Given the description of an element on the screen output the (x, y) to click on. 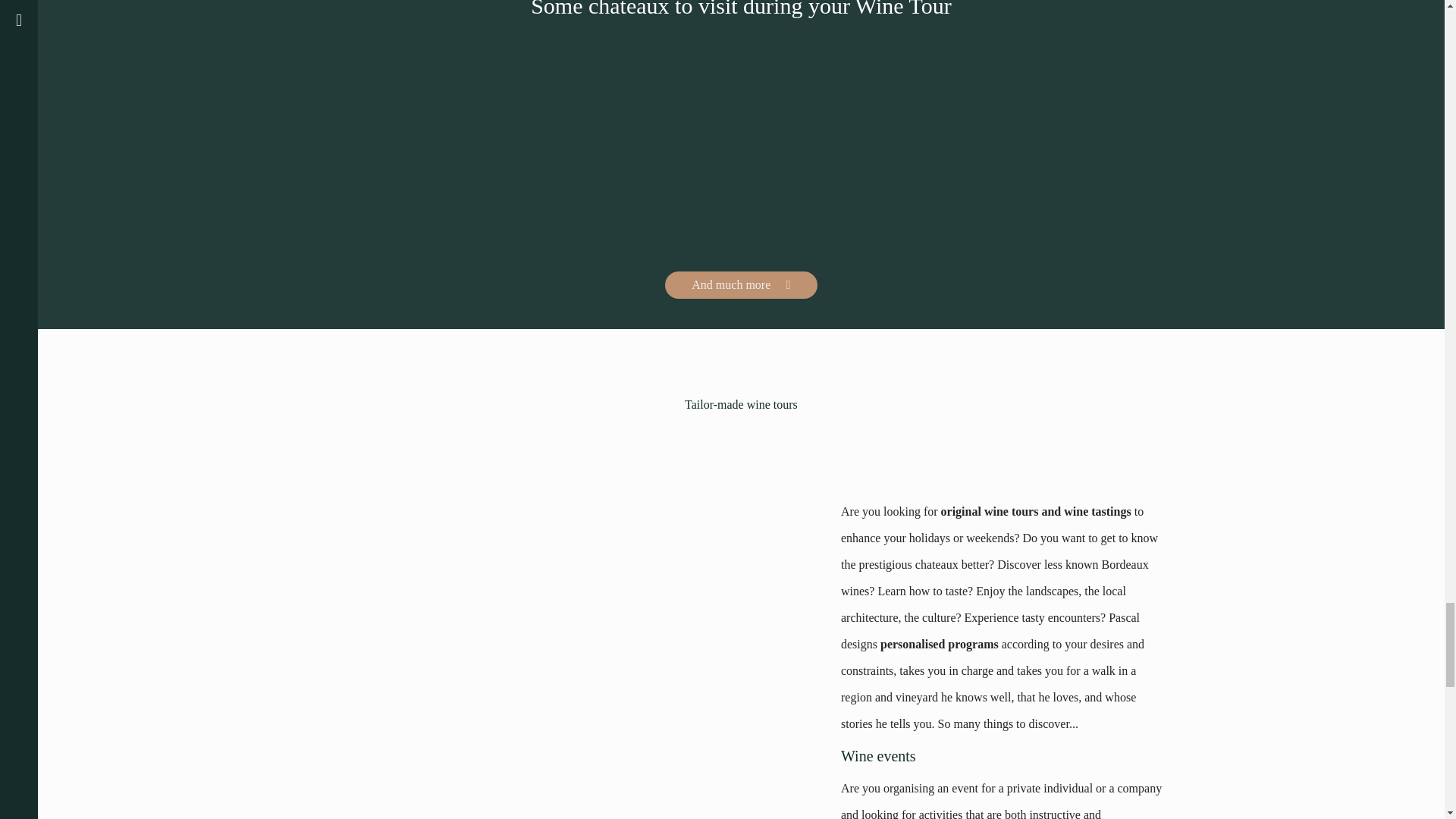
original wine tours and wine tastings (1035, 511)
And much more (740, 284)
